Given the description of an element on the screen output the (x, y) to click on. 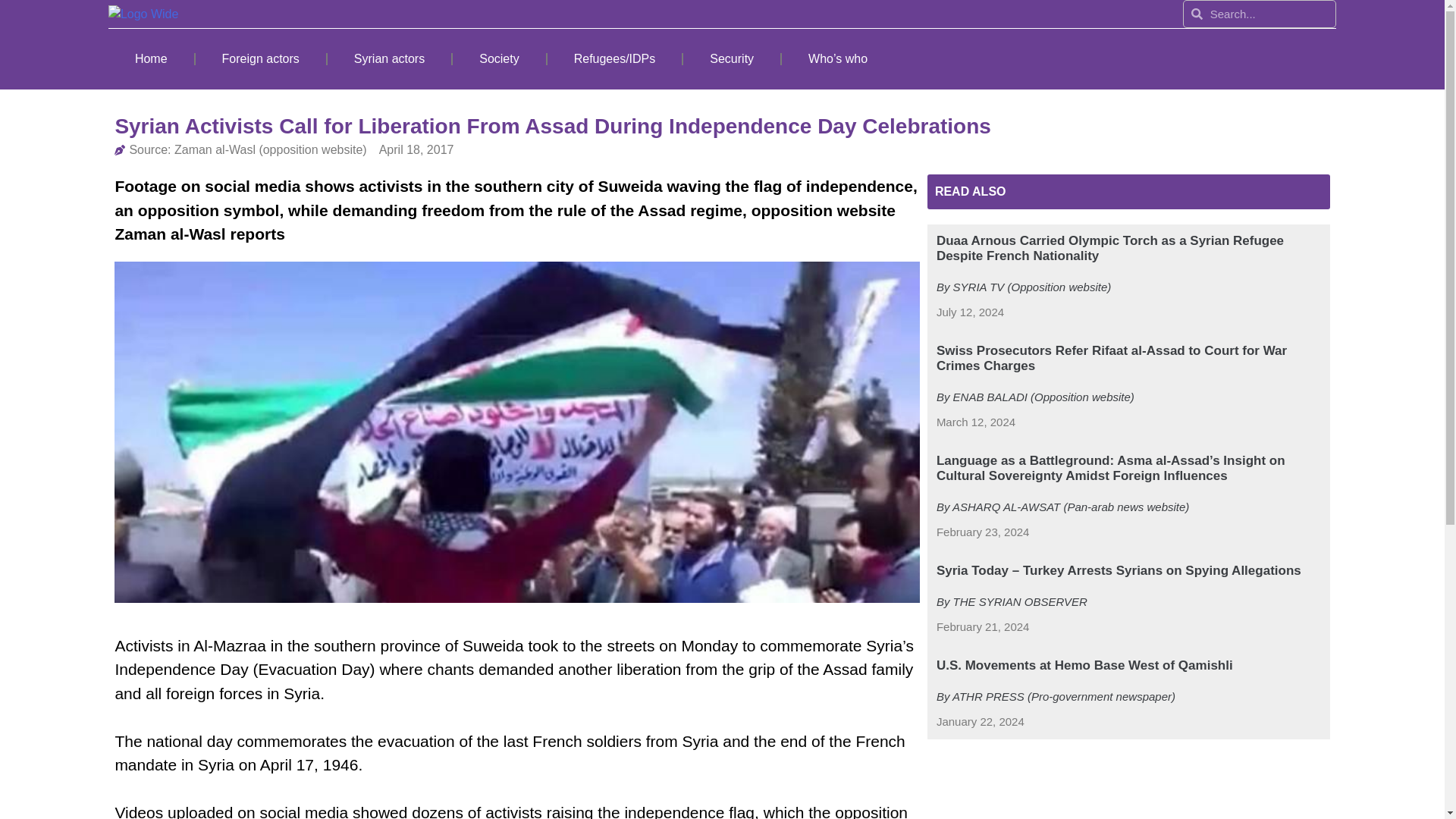
Home (150, 58)
Syrian actors (389, 58)
Foreign actors (260, 58)
February 21, 2024 (982, 627)
January 22, 2024 (980, 721)
U.S. Movements at Hemo Base West of Qamishli (1084, 665)
Society (498, 58)
February 23, 2024 (982, 531)
Security (731, 58)
March 12, 2024 (975, 422)
July 12, 2024 (970, 312)
